Given the description of an element on the screen output the (x, y) to click on. 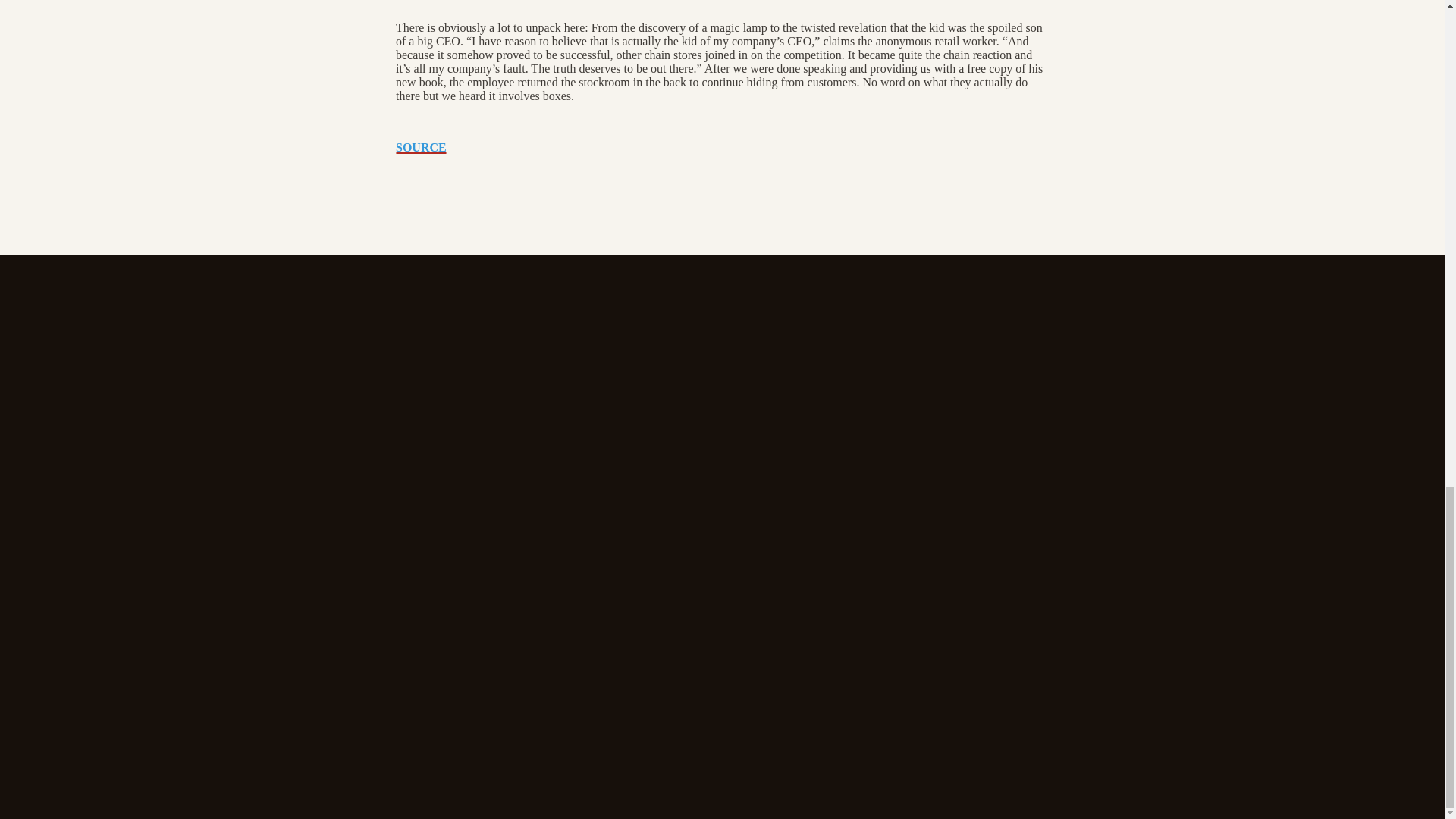
Political Comics (277, 572)
Comics Kingdom (320, 341)
DAA Industry Opt Out (457, 519)
About (413, 480)
All Comics (264, 592)
Comics in Spanish (283, 553)
Privacy Notice (435, 539)
Comics A-Z (266, 480)
Creators A-Z (270, 499)
SOURCE (421, 146)
